Given the description of an element on the screen output the (x, y) to click on. 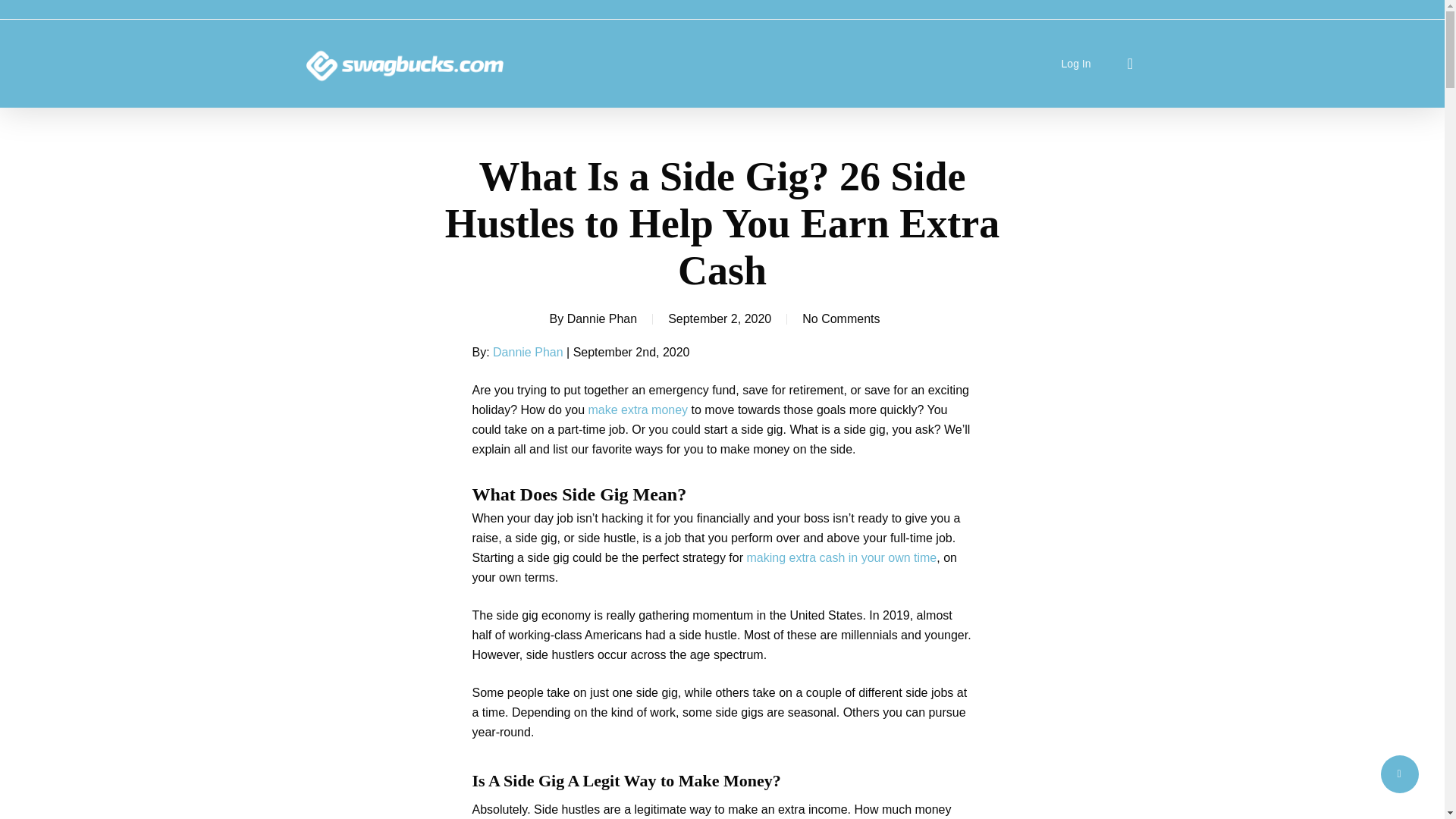
search (1129, 64)
No Comments (840, 318)
making extra cash in your own time (840, 557)
Posts by Dannie Phan (602, 318)
Dannie Phan (528, 351)
Log In (1075, 63)
make extra money (637, 409)
Dannie Phan (602, 318)
